Given the description of an element on the screen output the (x, y) to click on. 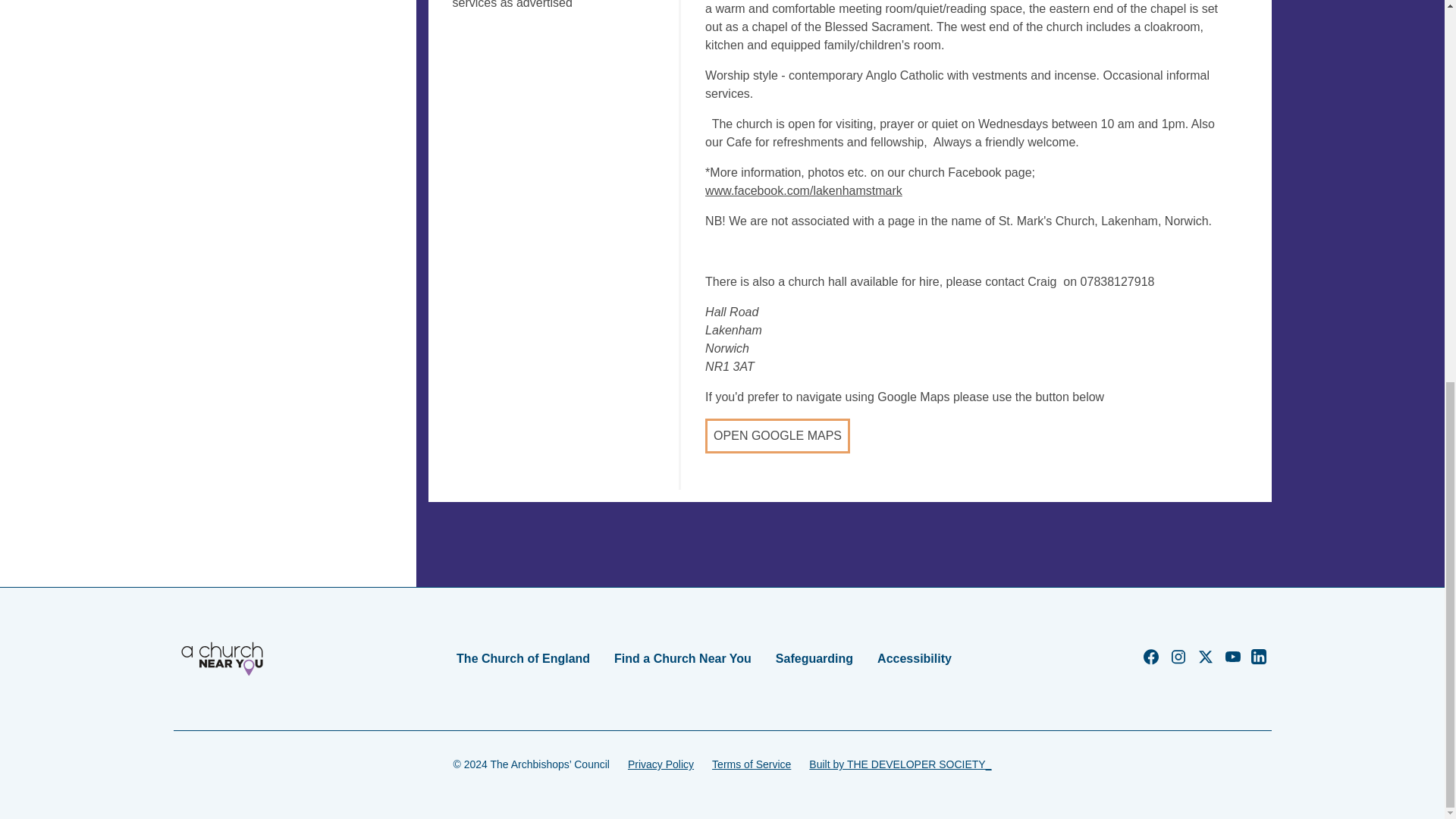
OPEN GOOGLE MAPS (777, 435)
ACNY home (221, 658)
